Given the description of an element on the screen output the (x, y) to click on. 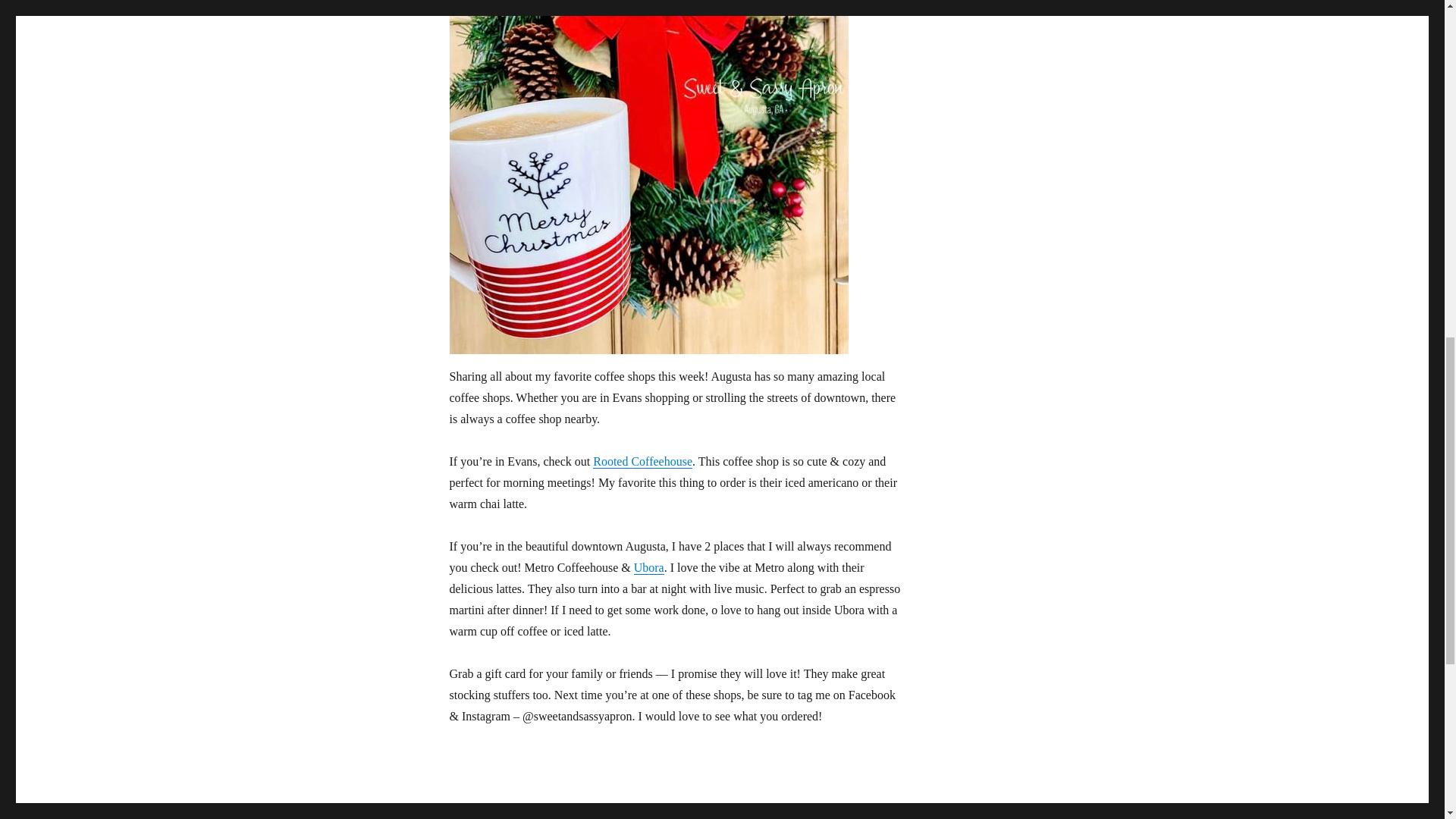
Ubora (648, 567)
Rooted Coffeehouse (642, 461)
